Given the description of an element on the screen output the (x, y) to click on. 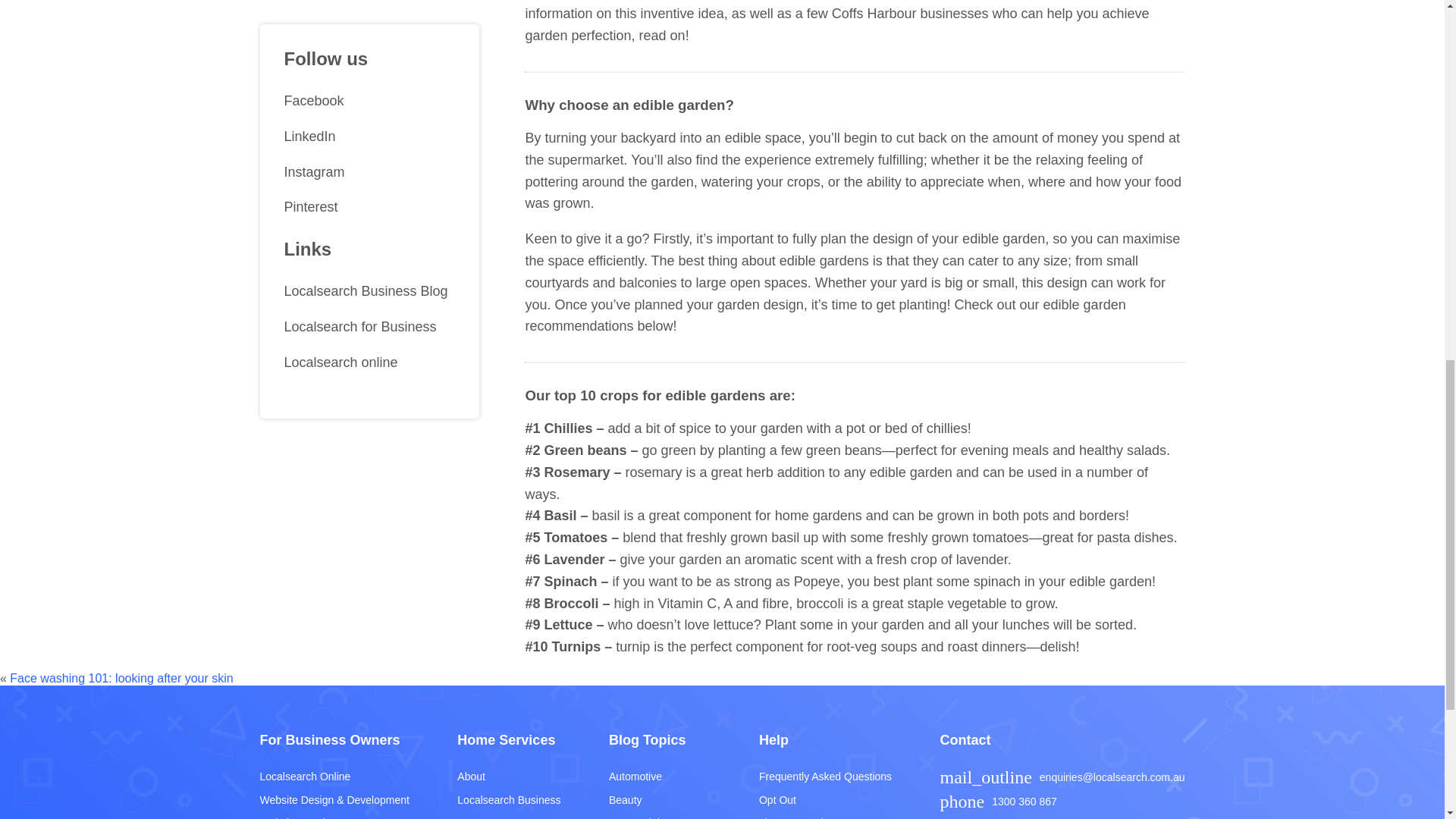
Localsearch Business Blog (368, 191)
Careers (508, 815)
Pinterest (368, 107)
Facebook (368, 9)
Localsearch Business (508, 799)
Localsearch online (368, 262)
Localsearch for Business (368, 226)
LinkedIn (368, 36)
Automotive (659, 776)
Website Hosting (334, 815)
About (508, 776)
Face washing 101: looking after your skin (121, 677)
Instagram (368, 72)
Localsearch Online (334, 776)
